Given the description of an element on the screen output the (x, y) to click on. 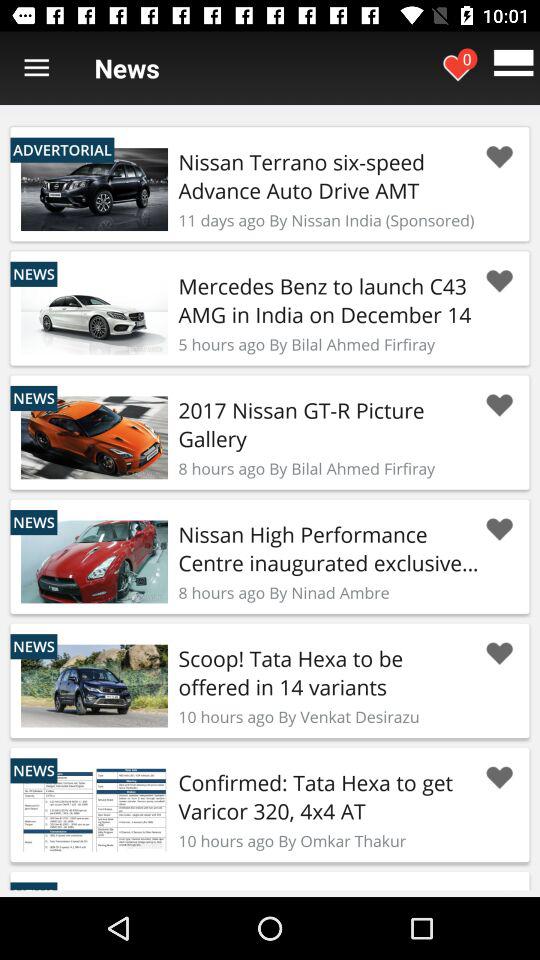
menu options (36, 68)
